Given the description of an element on the screen output the (x, y) to click on. 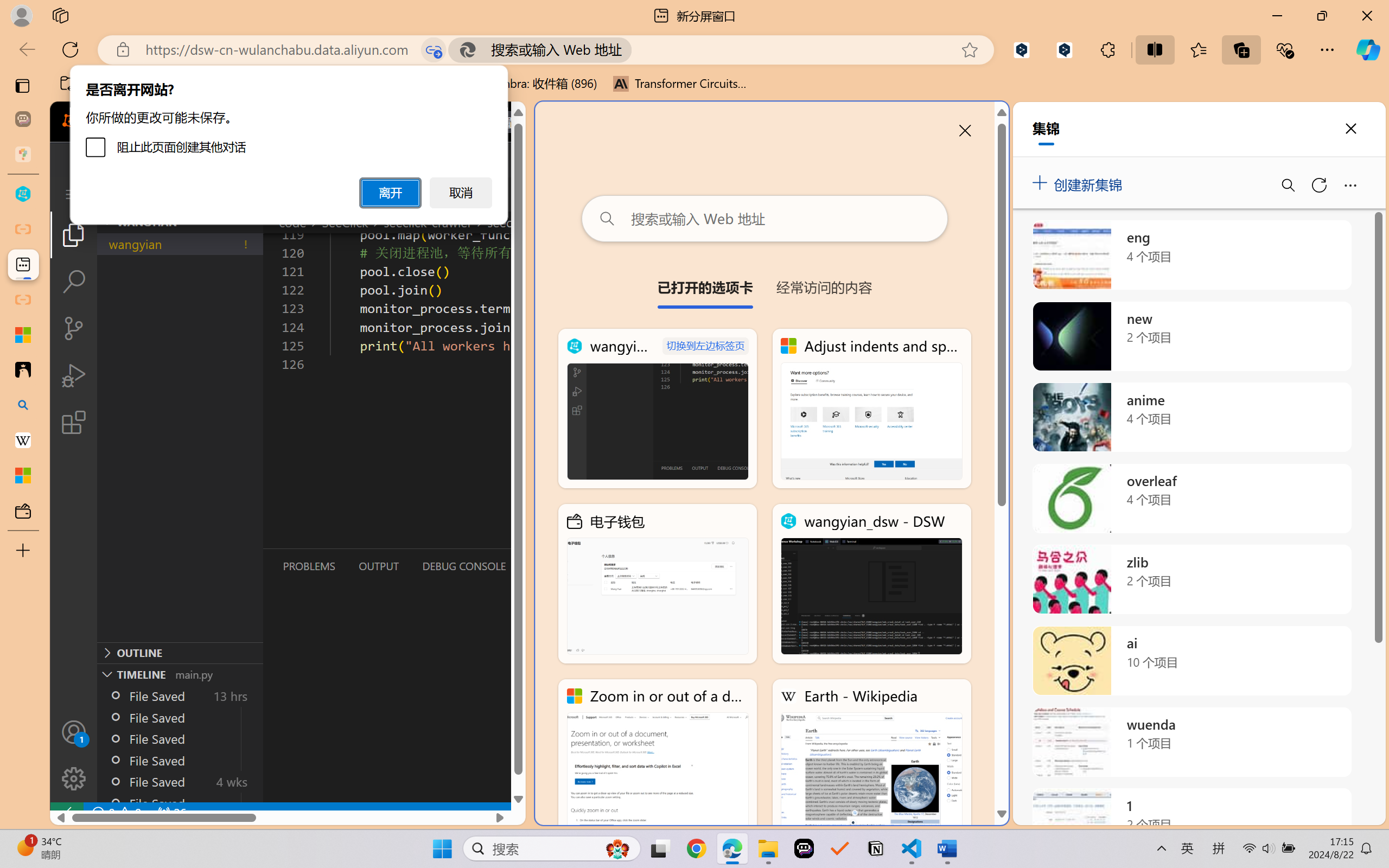
Copilot (Ctrl+Shift+.) (1368, 49)
Output (Ctrl+Shift+U) (377, 565)
Adjust indents and spacing - Microsoft Support (22, 334)
Outline Section (179, 652)
